Given the description of an element on the screen output the (x, y) to click on. 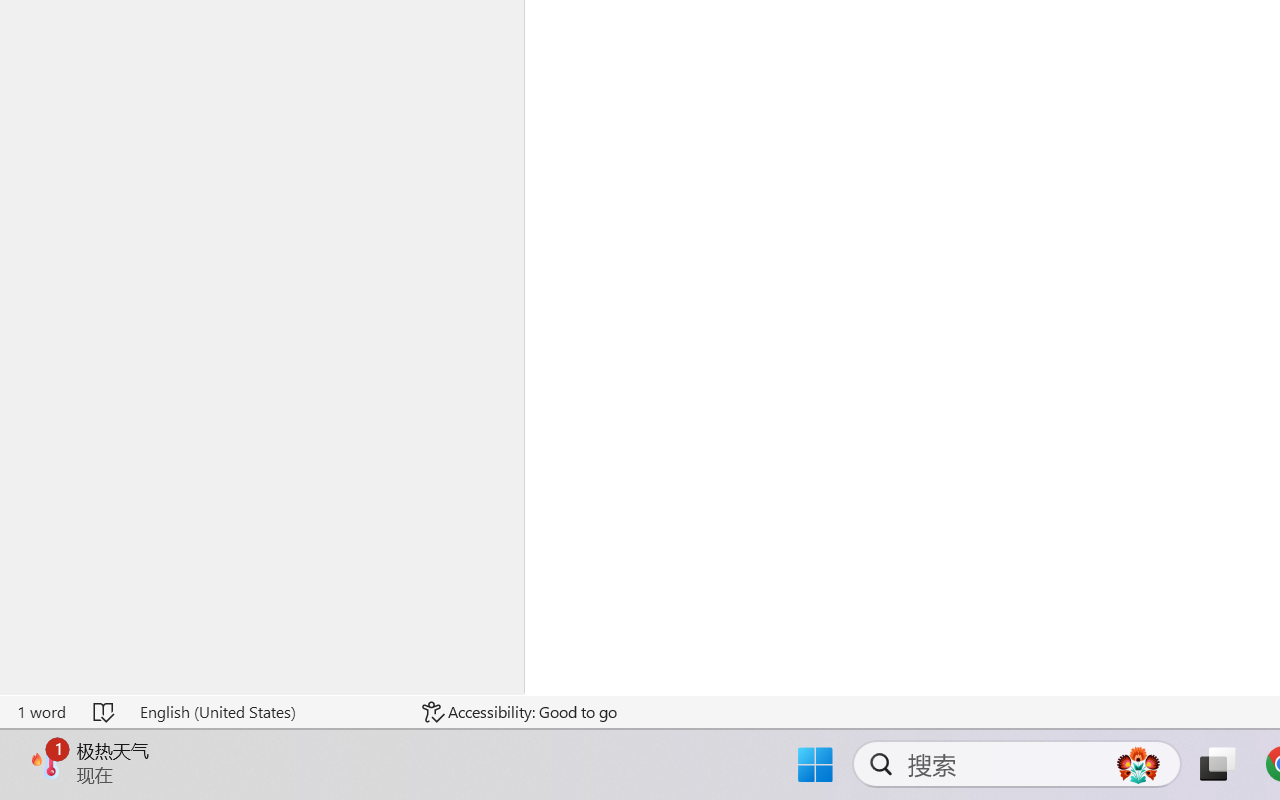
Accessibility Checker Accessibility: Good to go (519, 712)
Word Count 1 word (41, 712)
AutomationID: BadgeAnchorLargeTicker (46, 762)
Spelling and Grammar Check No Errors (105, 712)
Language English (United States) (267, 712)
